Given the description of an element on the screen output the (x, y) to click on. 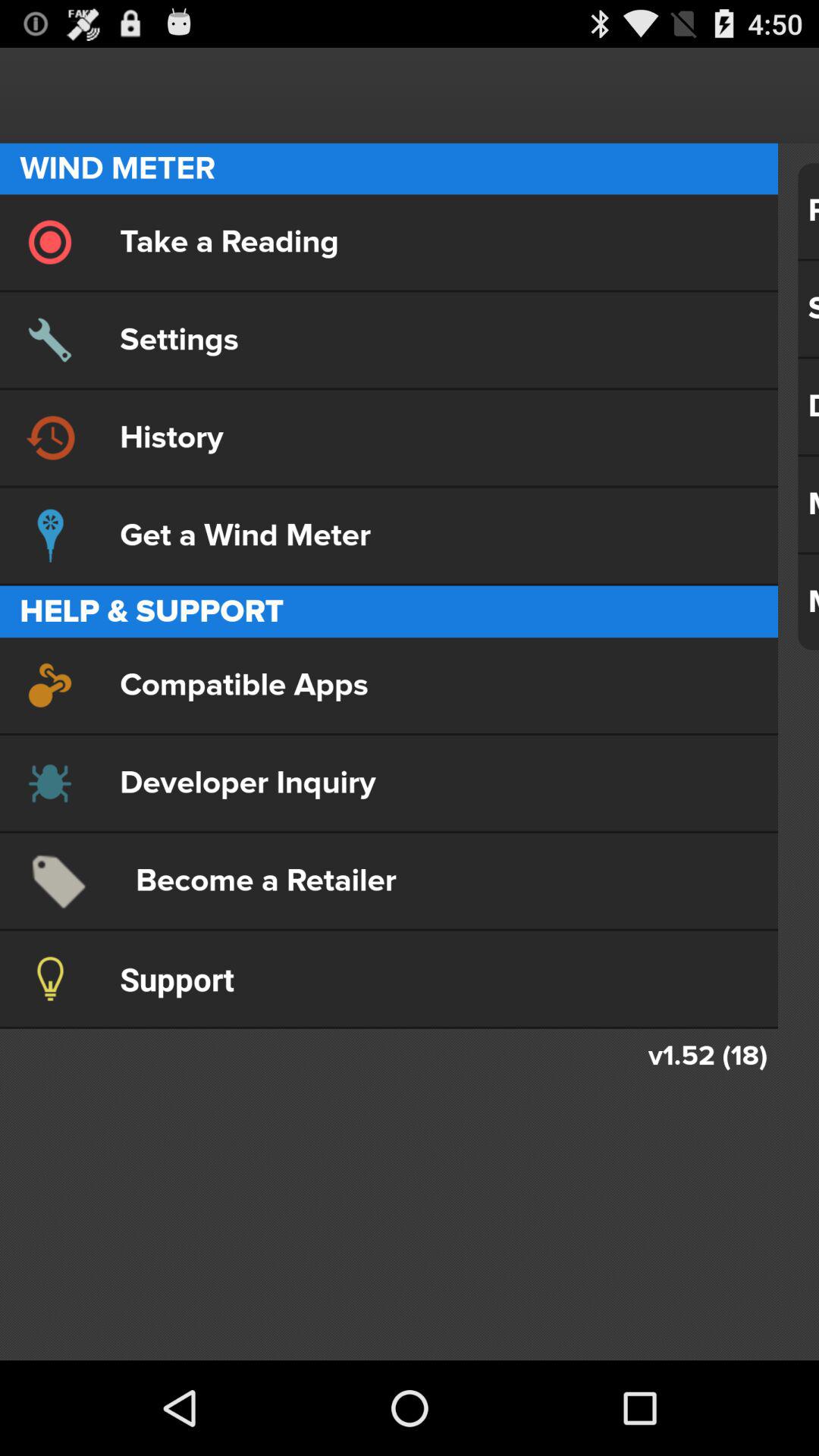
select take a reading icon (389, 242)
